Given the description of an element on the screen output the (x, y) to click on. 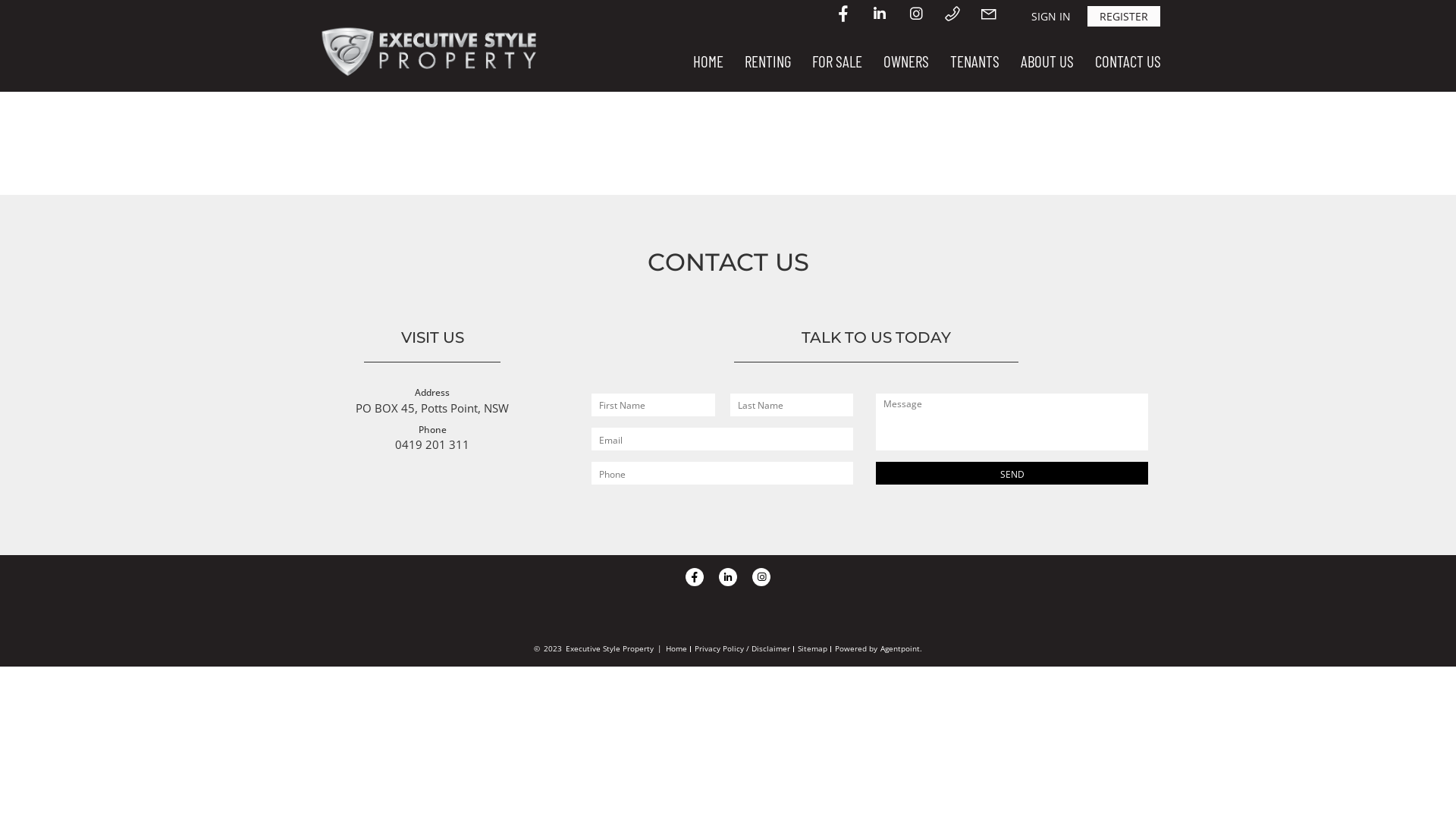
SIGN IN Element type: text (1050, 16)
TENANTS Element type: text (974, 61)
Agentpoint Element type: text (899, 648)
FOR SALE Element type: text (836, 61)
0419 201 311 Element type: text (432, 443)
CONTACT US Element type: text (1127, 61)
Sitemap Element type: text (812, 648)
REGISTER Element type: text (1123, 16)
ABOUT US Element type: text (1047, 61)
HOME Element type: text (708, 61)
Home Element type: text (676, 648)
OWNERS Element type: text (905, 61)
SEND Element type: text (1011, 472)
Privacy Policy / Disclaimer Element type: text (742, 648)
RENTING Element type: text (767, 61)
